Given the description of an element on the screen output the (x, y) to click on. 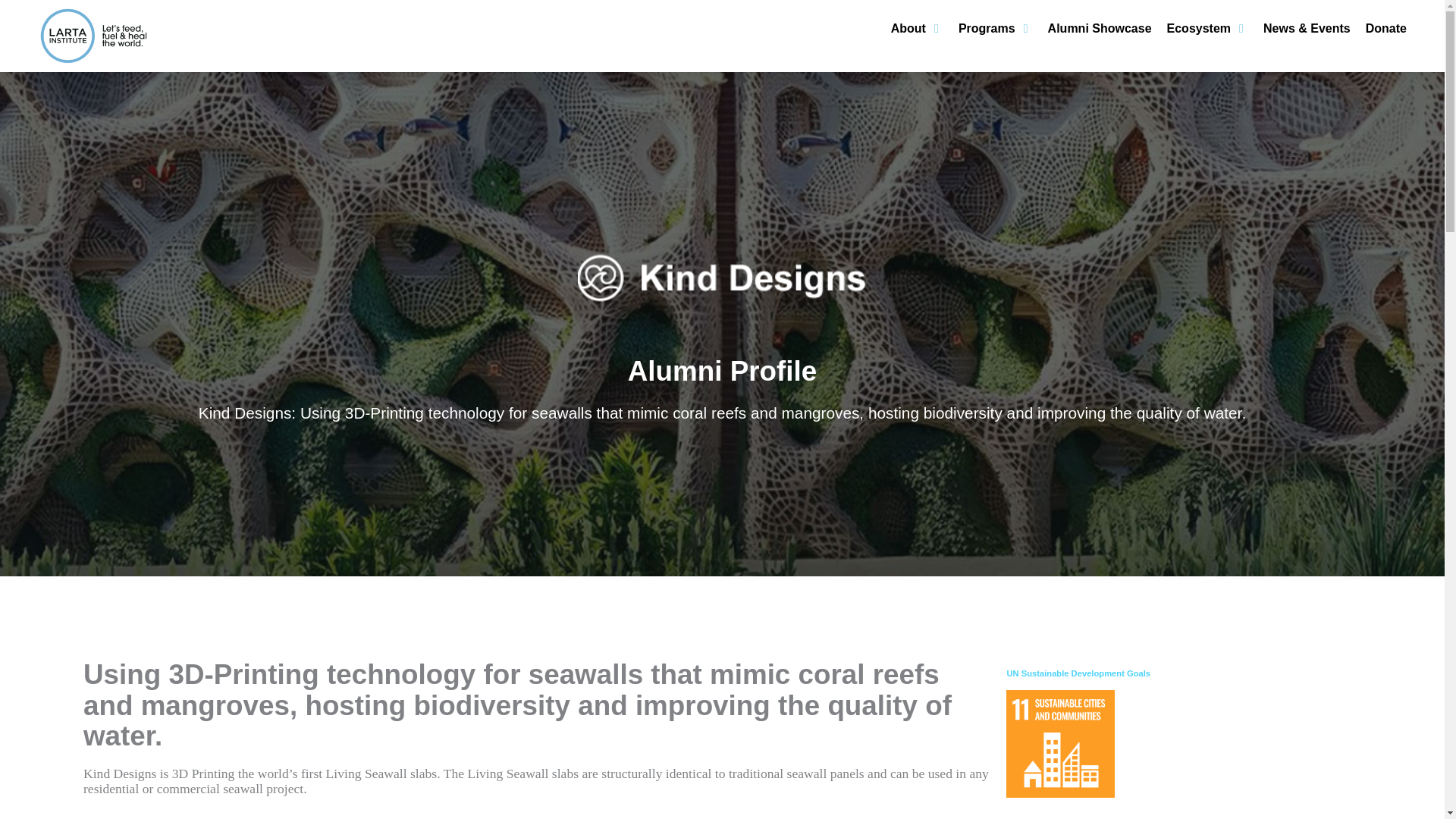
About (908, 28)
Alumni Showcase (1099, 28)
Ecosystem (1199, 28)
Programs (986, 28)
